Given the description of an element on the screen output the (x, y) to click on. 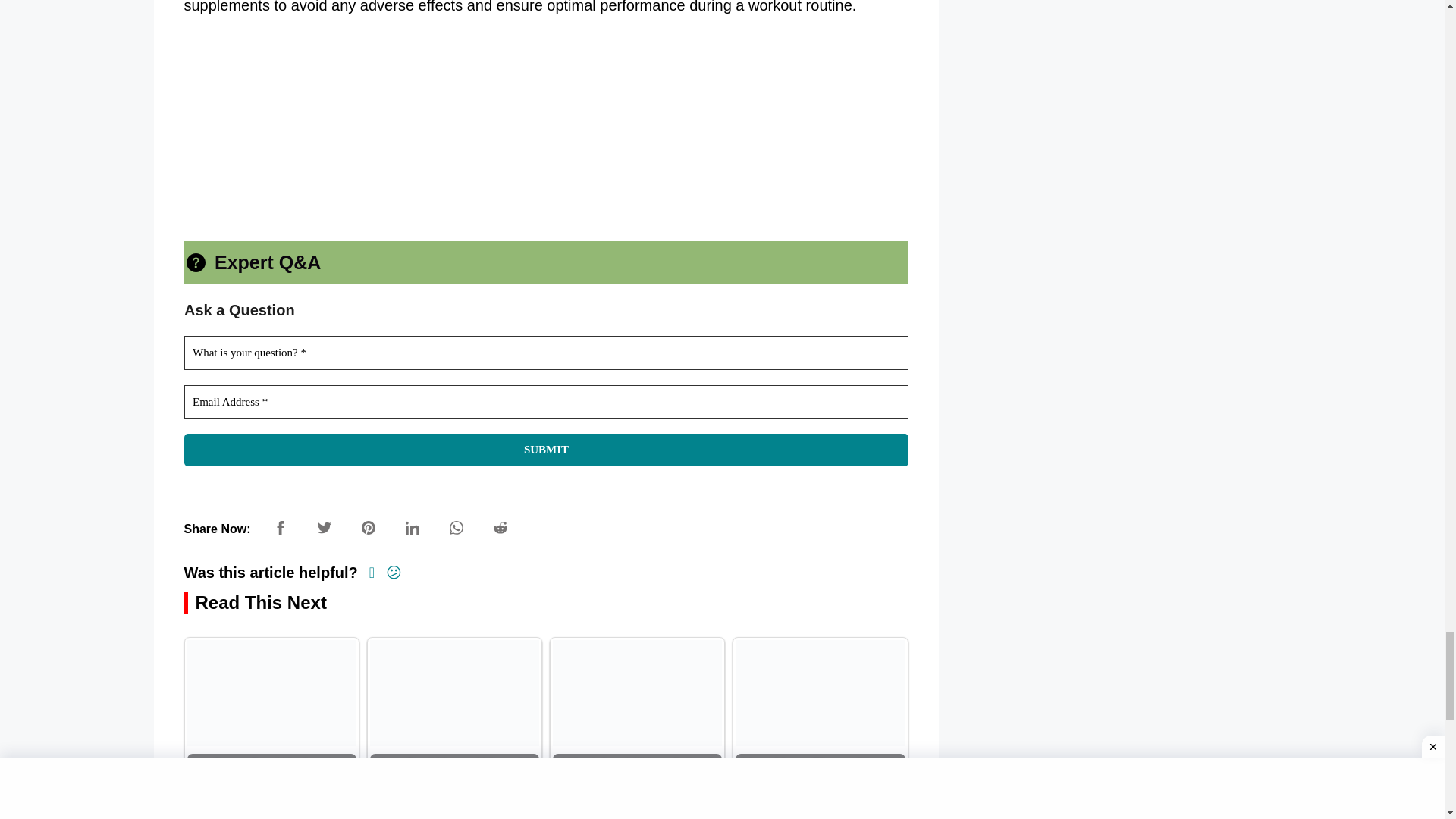
SUBMIT (545, 450)
